Given the description of an element on the screen output the (x, y) to click on. 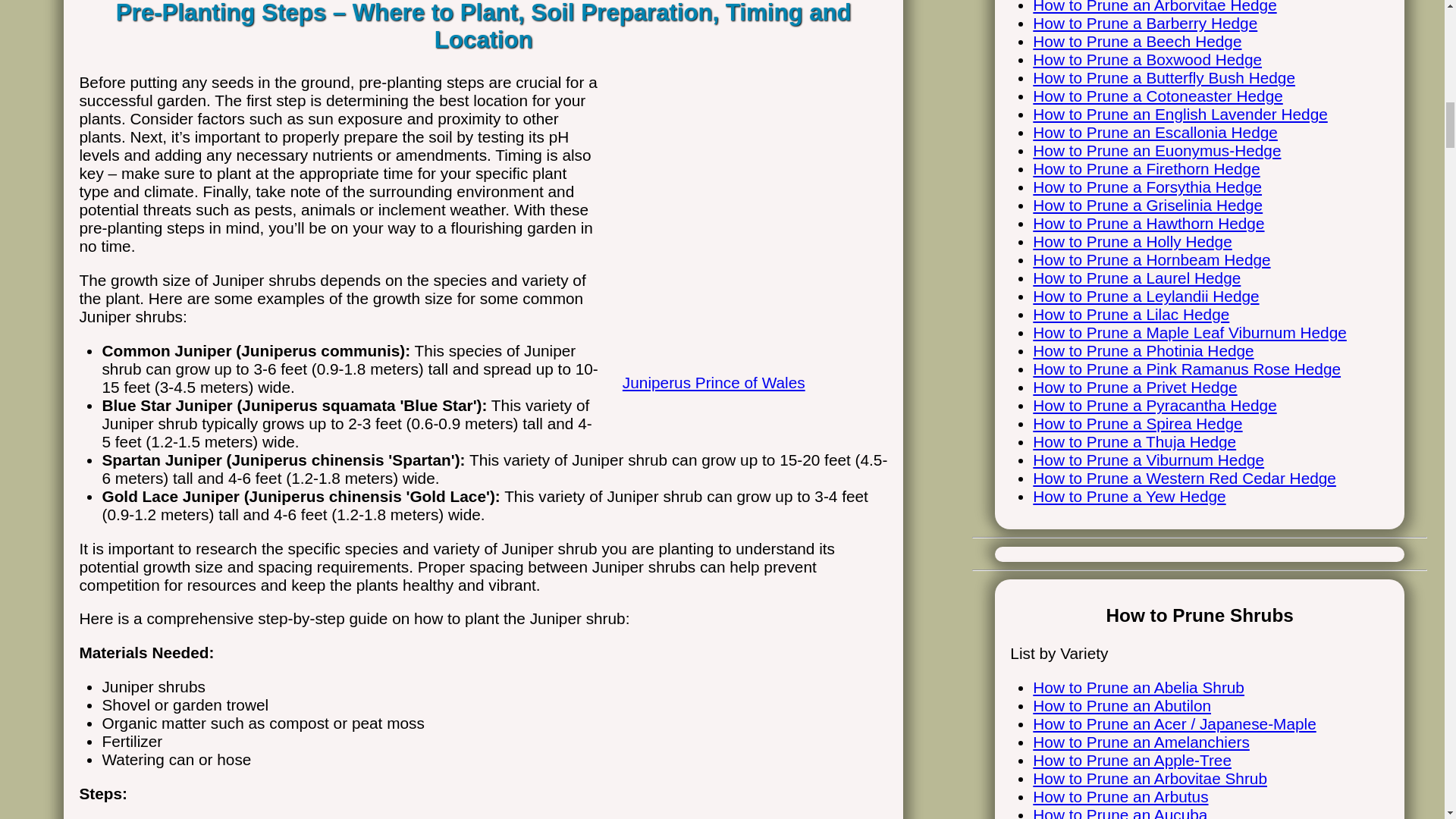
Juniperus Prince of Wales (747, 365)
